Given the description of an element on the screen output the (x, y) to click on. 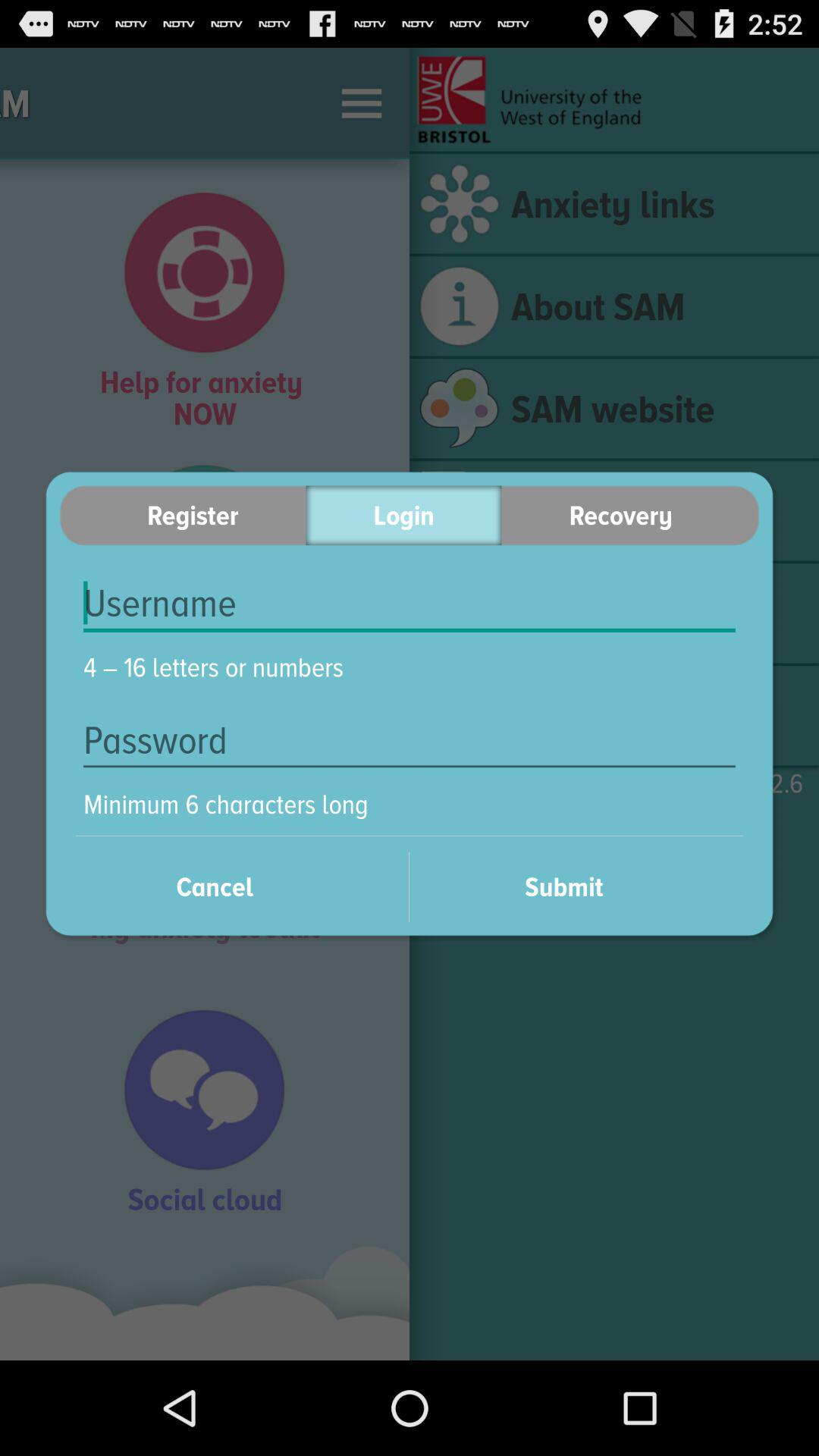
type username for login (409, 603)
